Given the description of an element on the screen output the (x, y) to click on. 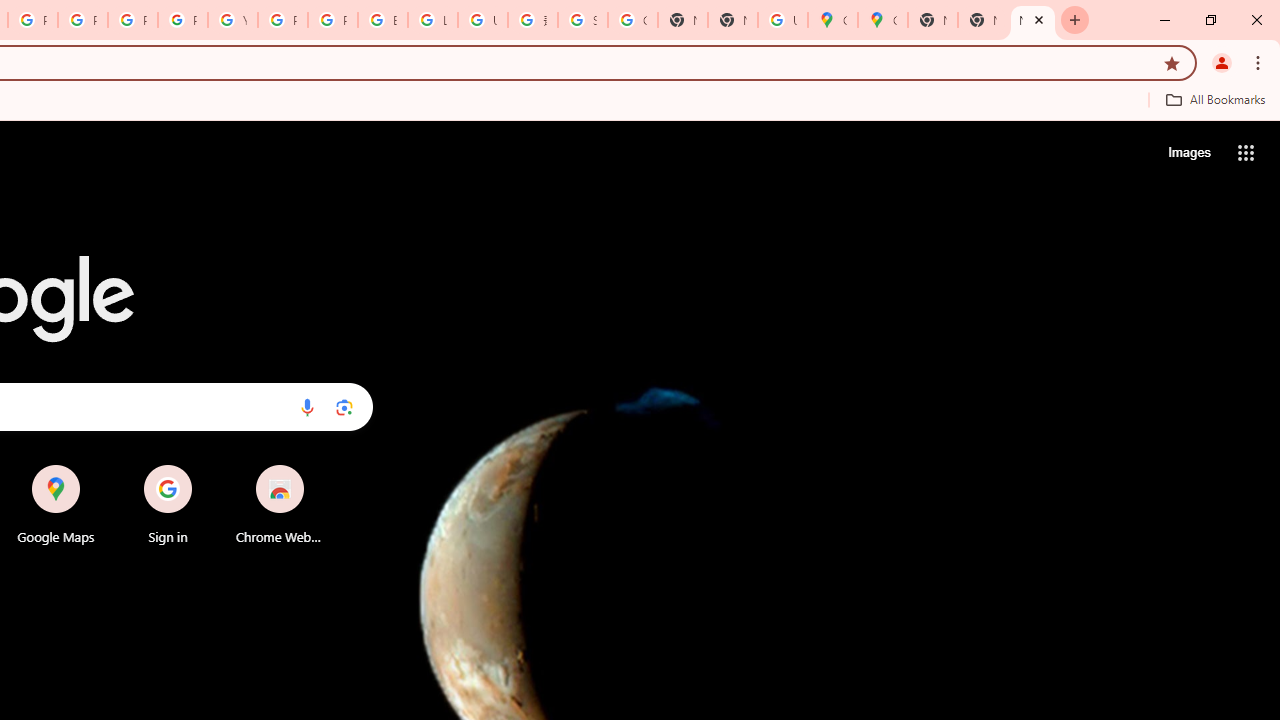
Minimize (1165, 20)
New Tab (732, 20)
Remove (319, 466)
